Given the description of an element on the screen output the (x, y) to click on. 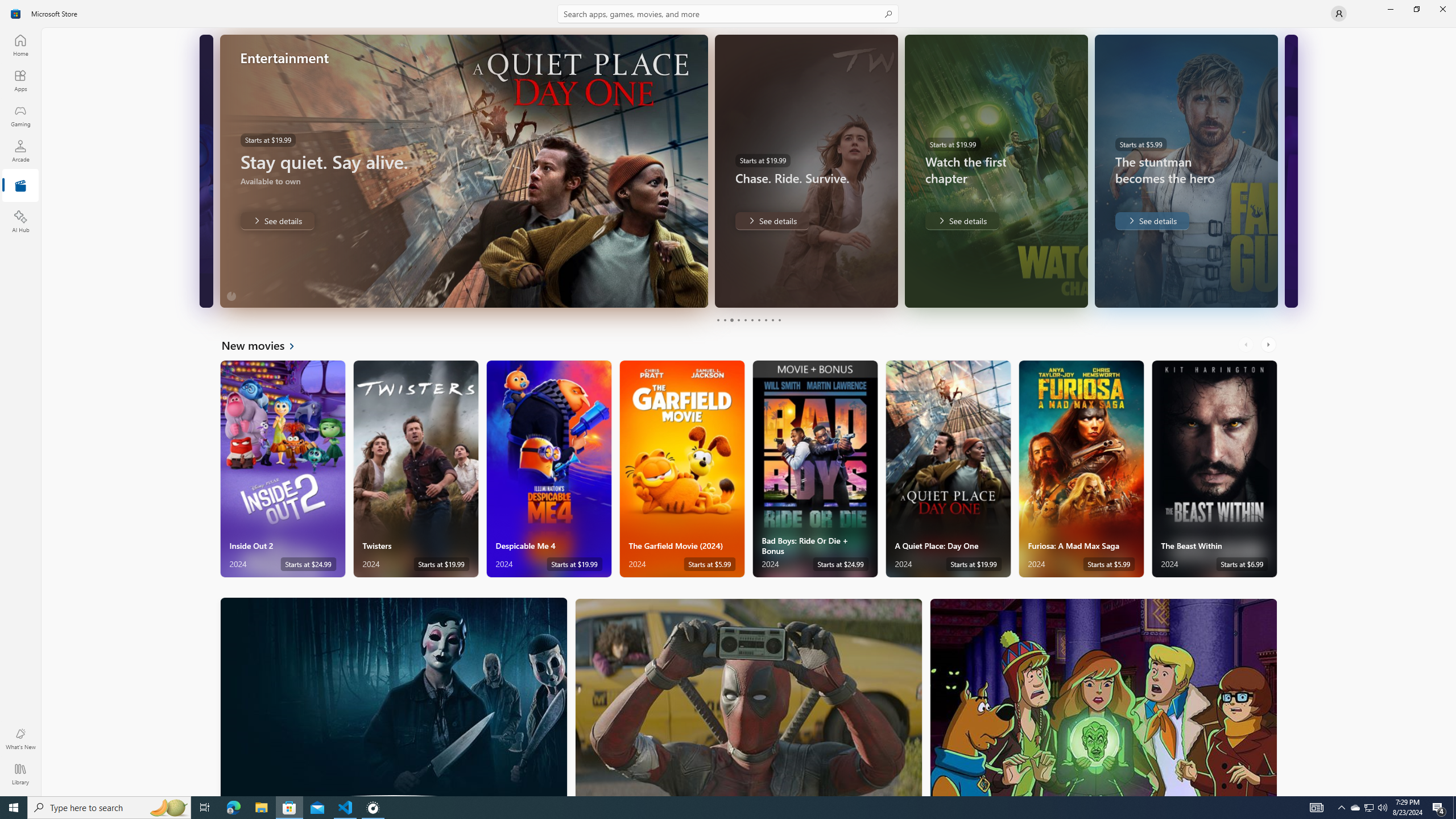
AI Hub (20, 221)
